Given the description of an element on the screen output the (x, y) to click on. 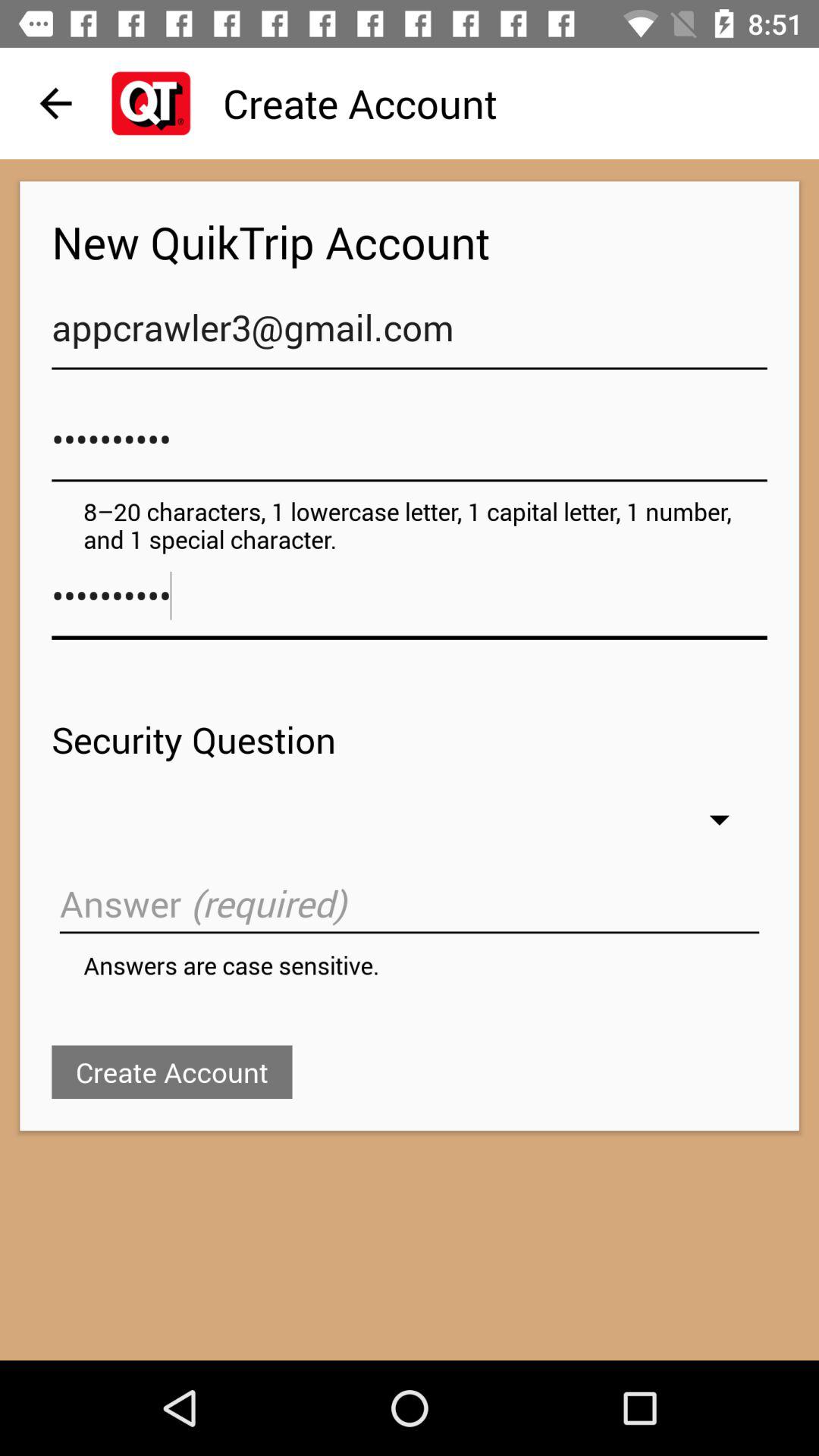
swipe until appcrawler3@gmail.com item (409, 335)
